Given the description of an element on the screen output the (x, y) to click on. 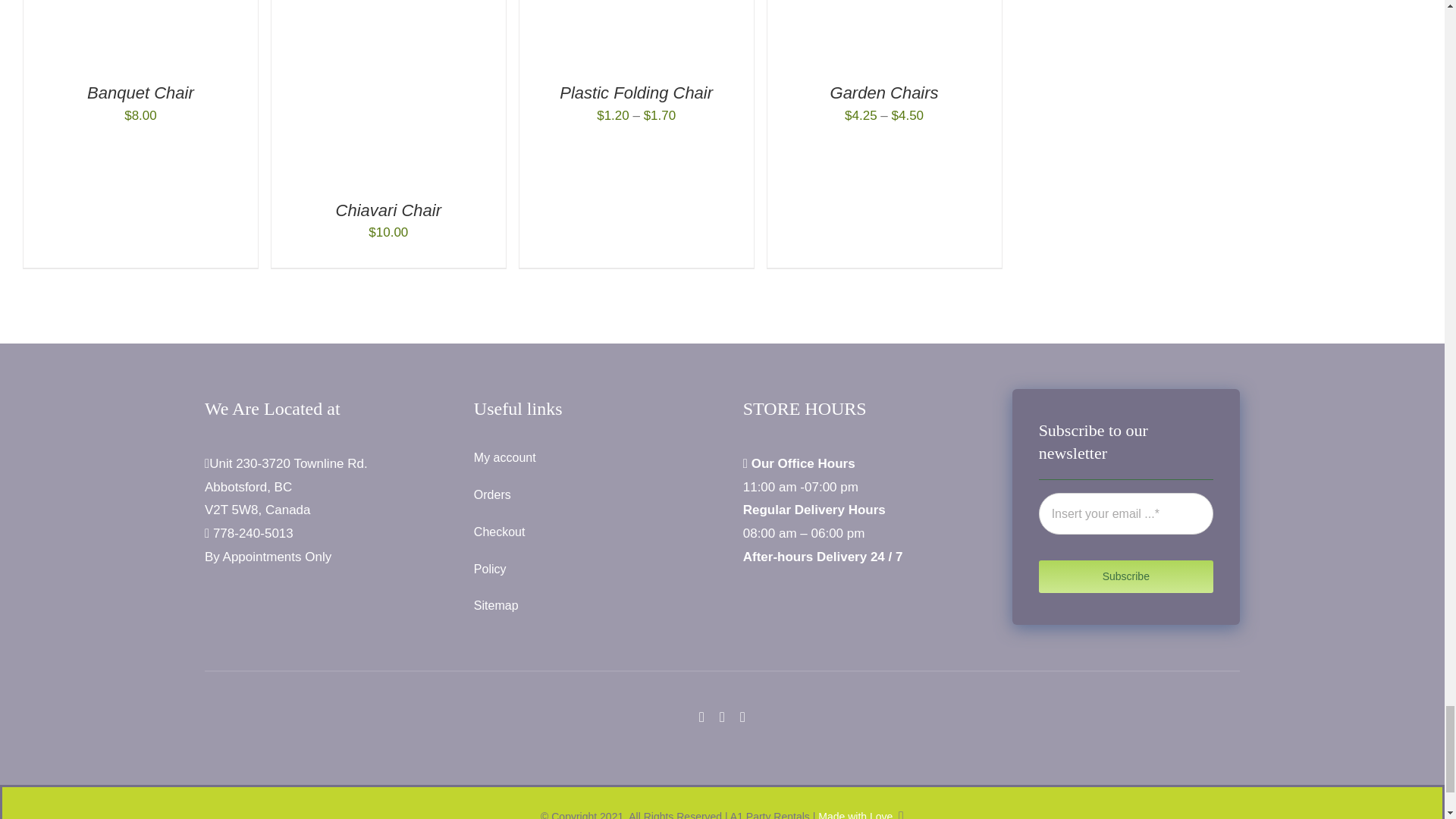
Subscribe (1125, 535)
